Given the description of an element on the screen output the (x, y) to click on. 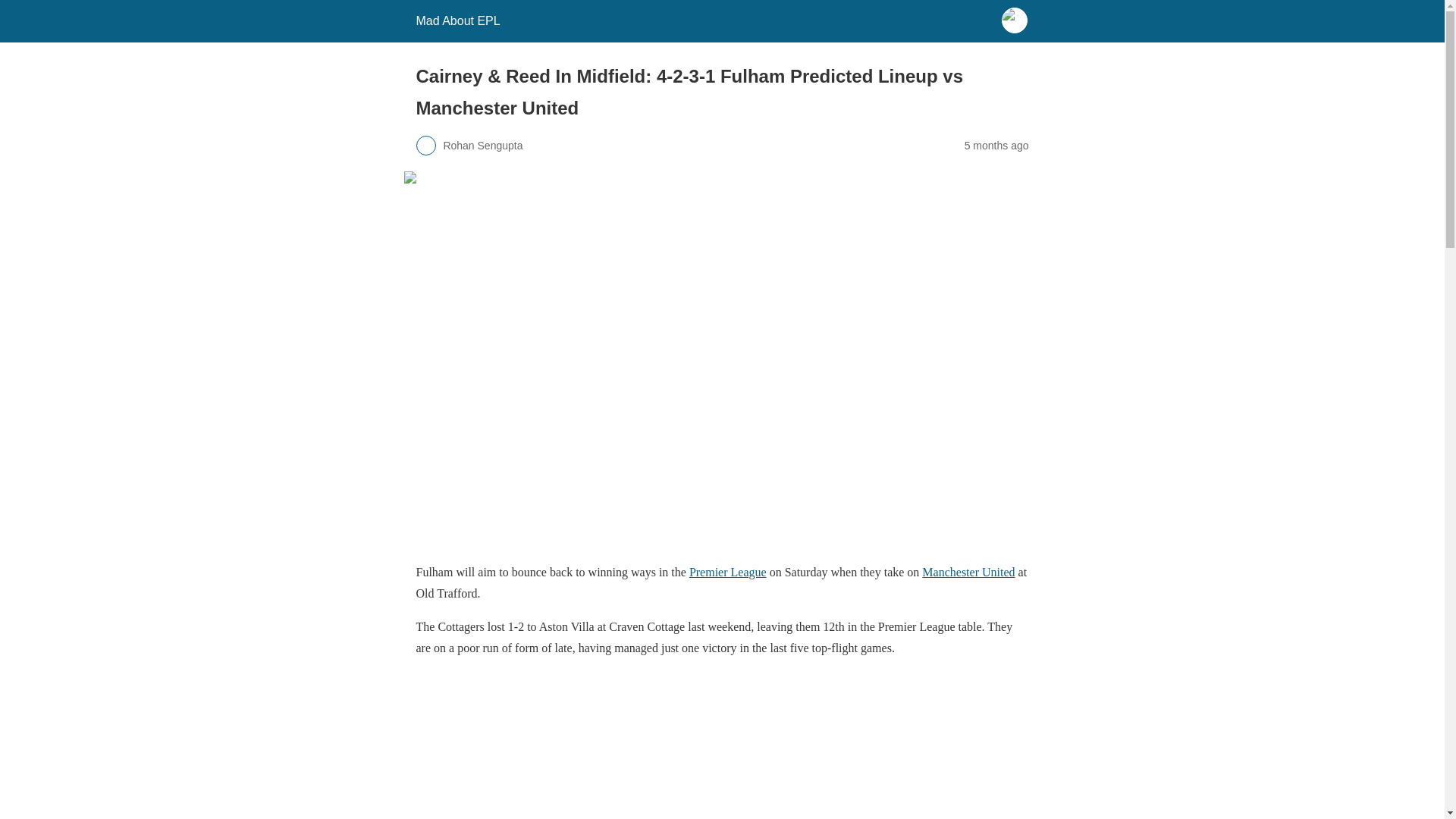
Premier League (727, 571)
Manchester United (967, 571)
Mad About EPL (456, 20)
